Given the description of an element on the screen output the (x, y) to click on. 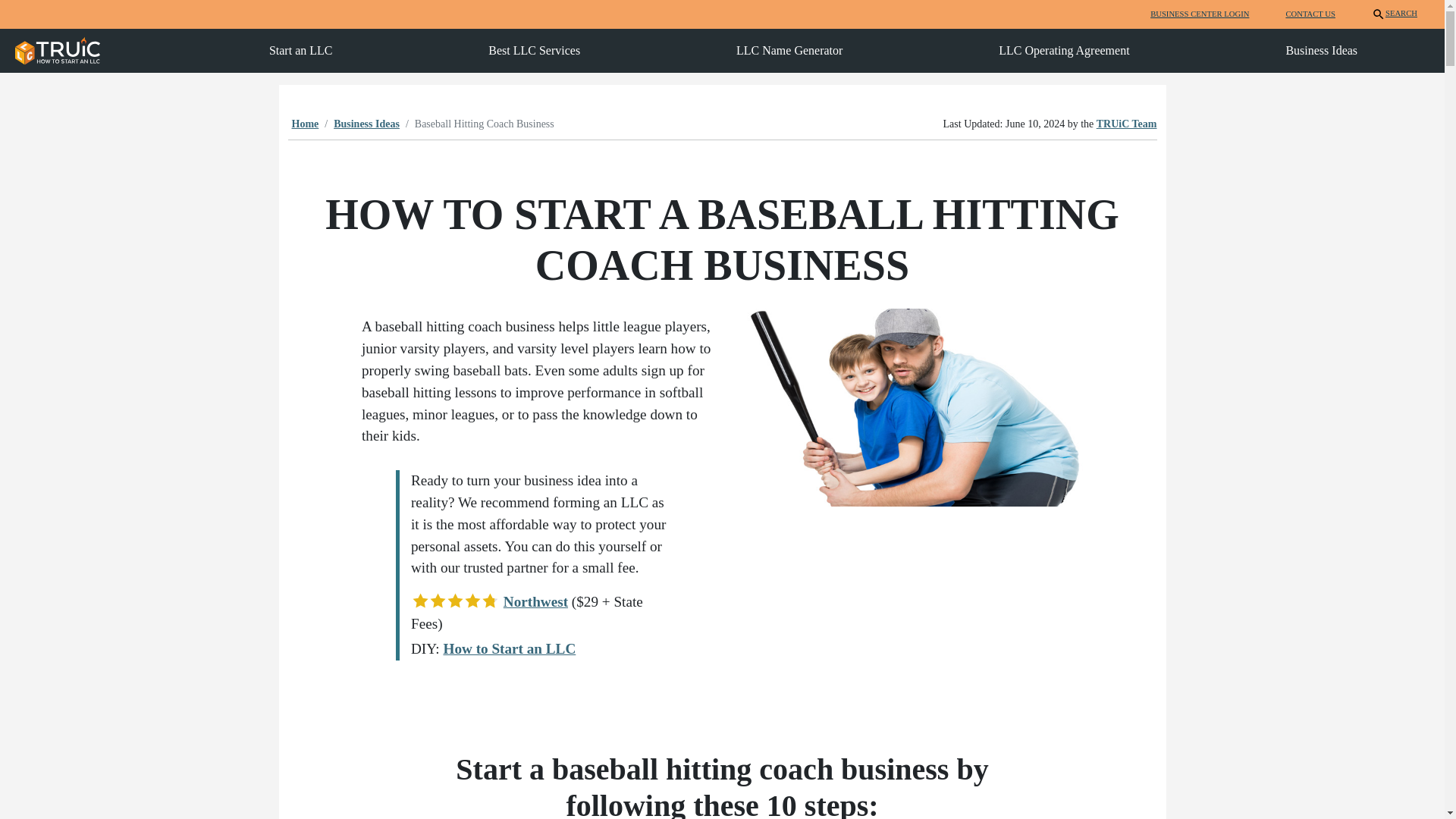
Northwest (535, 601)
How to Start an LLC (508, 648)
BUSINESS CENTER LOGIN (1199, 14)
Business Ideas (365, 123)
Start an LLC (301, 50)
SEARCH (1394, 14)
Business Ideas (1321, 50)
LLC Name Generator (788, 50)
Best LLC Services (534, 50)
LLC Operating Agreement (1064, 50)
TRUiC Team (1126, 123)
How to start an LLC (57, 50)
Home (304, 123)
Link to Form an LLC (508, 648)
CONTACT US (1309, 14)
